Given the description of an element on the screen output the (x, y) to click on. 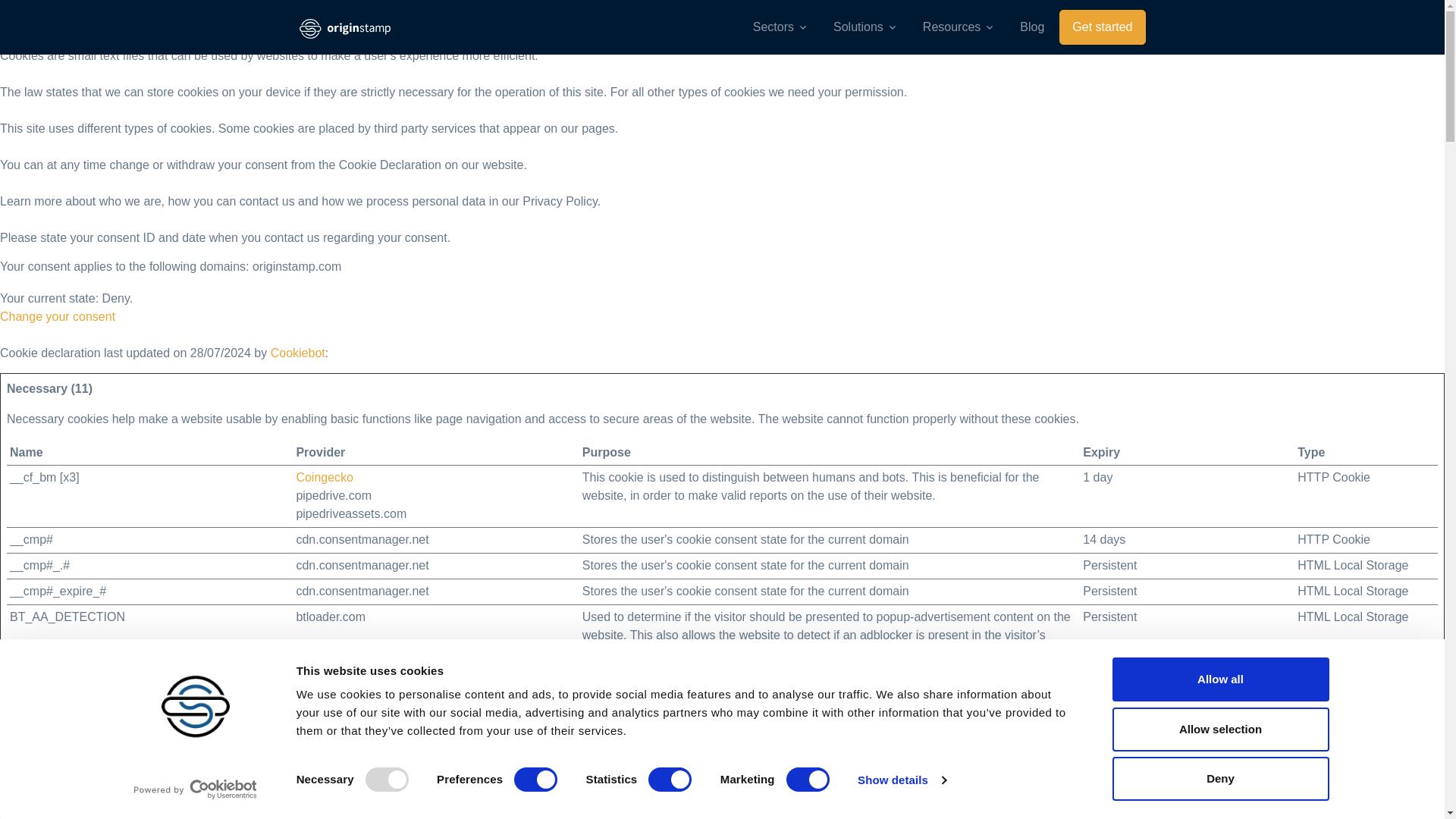
Cookiebot (322, 740)
Cookiebot (297, 352)
Cookiebot (297, 352)
Change your consent (57, 316)
Cookiebot's privacy policy (322, 740)
Coingecko (324, 477)
Coingecko's privacy policy (324, 477)
